Given the description of an element on the screen output the (x, y) to click on. 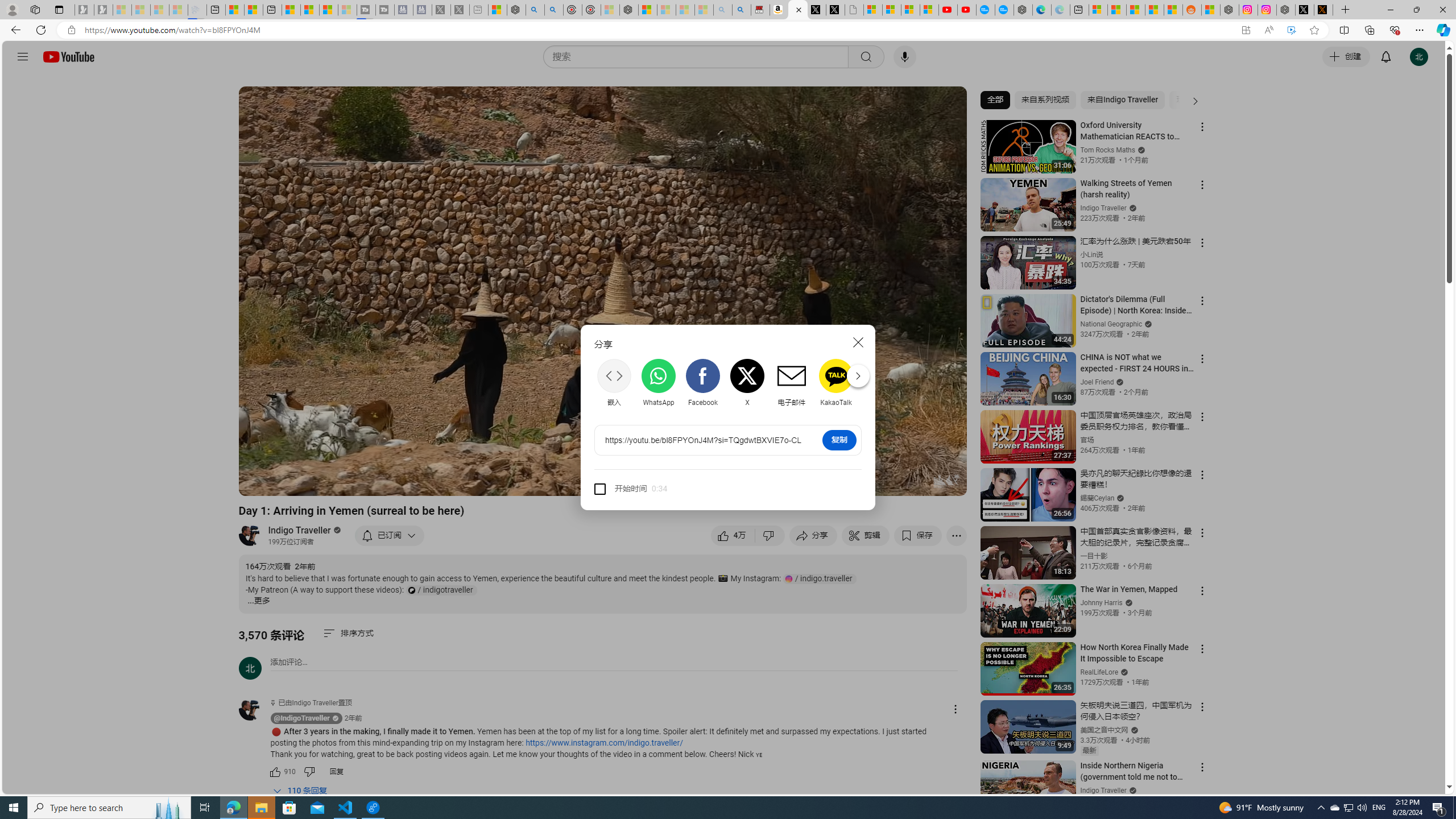
AutomationID: share-url (703, 439)
